Given the description of an element on the screen output the (x, y) to click on. 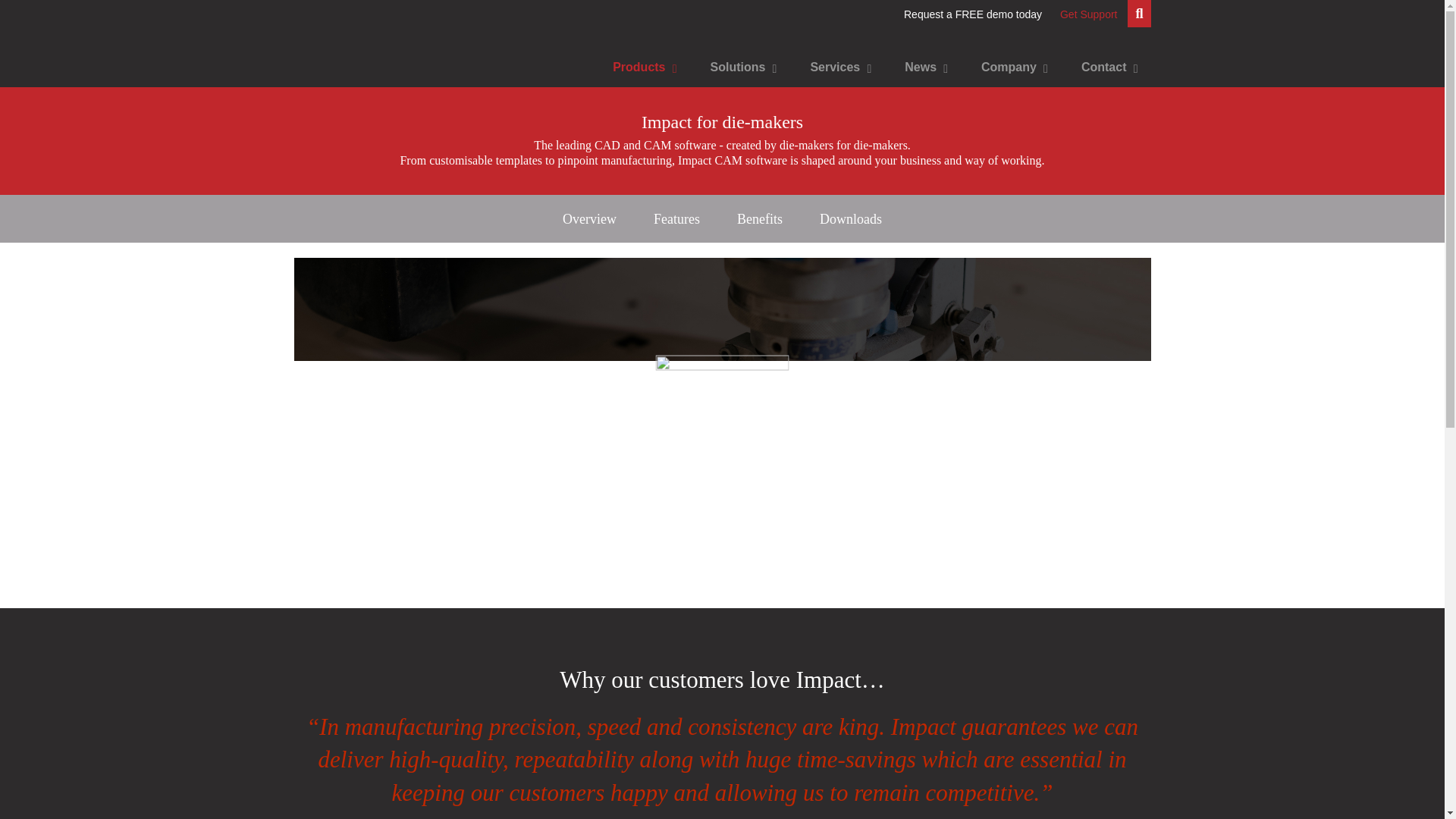
Services (836, 67)
Company (1010, 67)
Arden Software (356, 52)
News (922, 67)
Get Support (1088, 14)
Products (640, 67)
Request a FREE demo today (973, 14)
Solutions (739, 67)
